Given the description of an element on the screen output the (x, y) to click on. 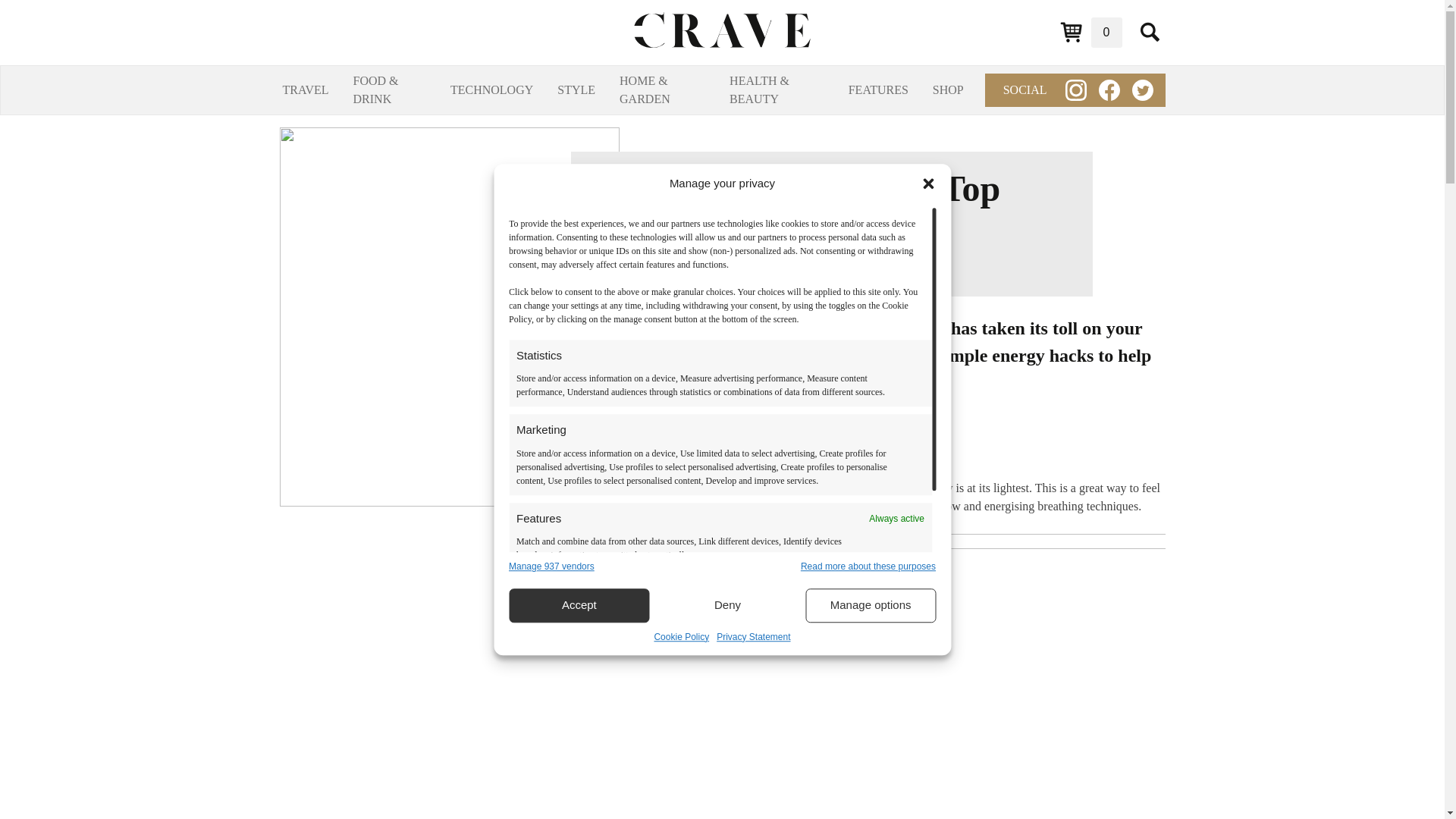
Privacy Statement (753, 636)
Accept (578, 605)
FEATURES (878, 89)
Read more about these purposes (868, 566)
Wassen (794, 355)
Deny (727, 605)
TECHNOLOGY (490, 89)
0 (1090, 32)
TRAVEL (305, 89)
STYLE (576, 89)
Manage 937 vendors (551, 566)
Manage options (870, 605)
Cart View (1090, 32)
SHOP (948, 89)
Cookie Policy (681, 636)
